Given the description of an element on the screen output the (x, y) to click on. 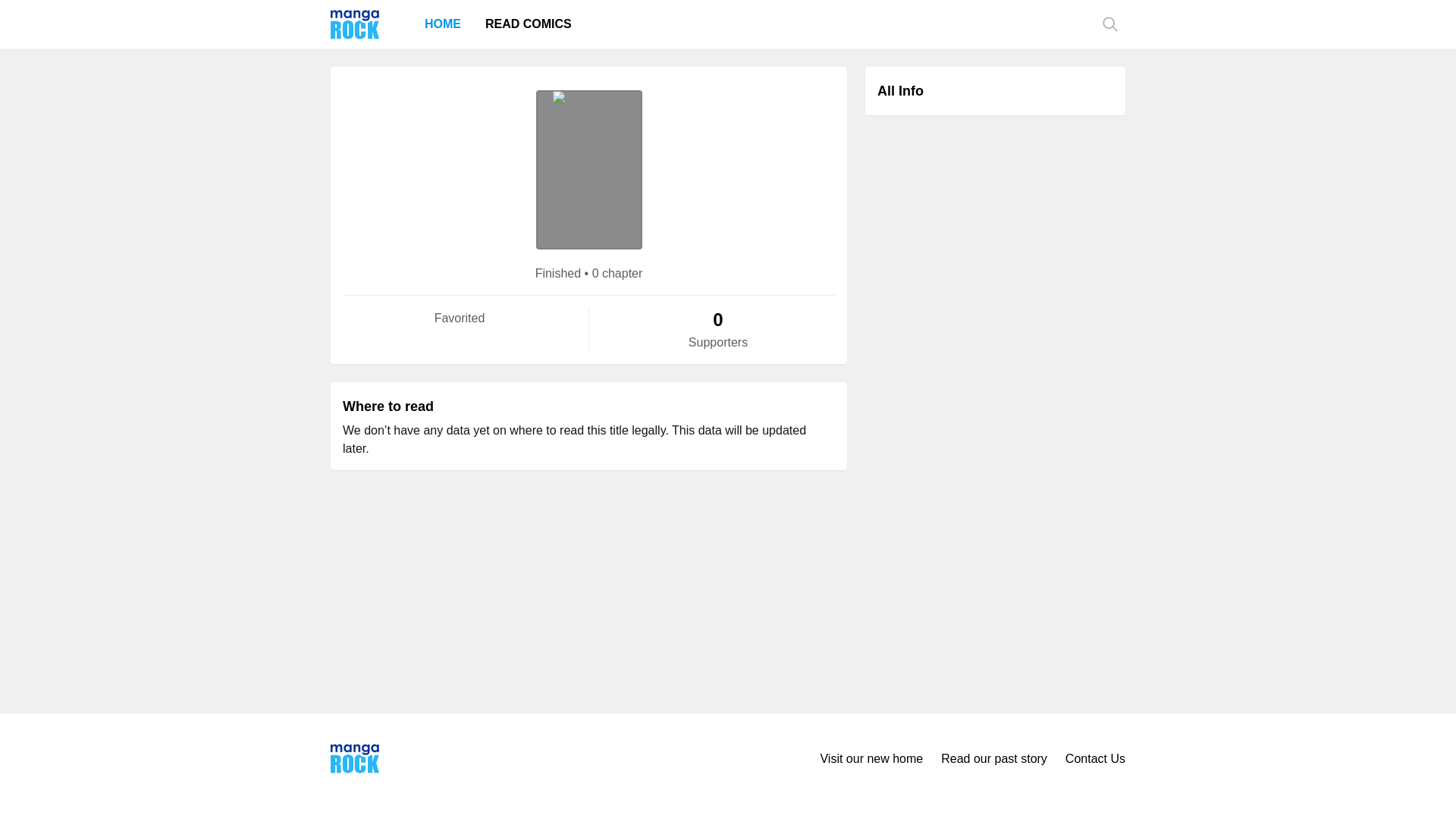
Contact Us (1095, 758)
Visit our new home (871, 758)
READ COMICS (528, 24)
HOME (442, 24)
Read our past story (993, 758)
